Given the description of an element on the screen output the (x, y) to click on. 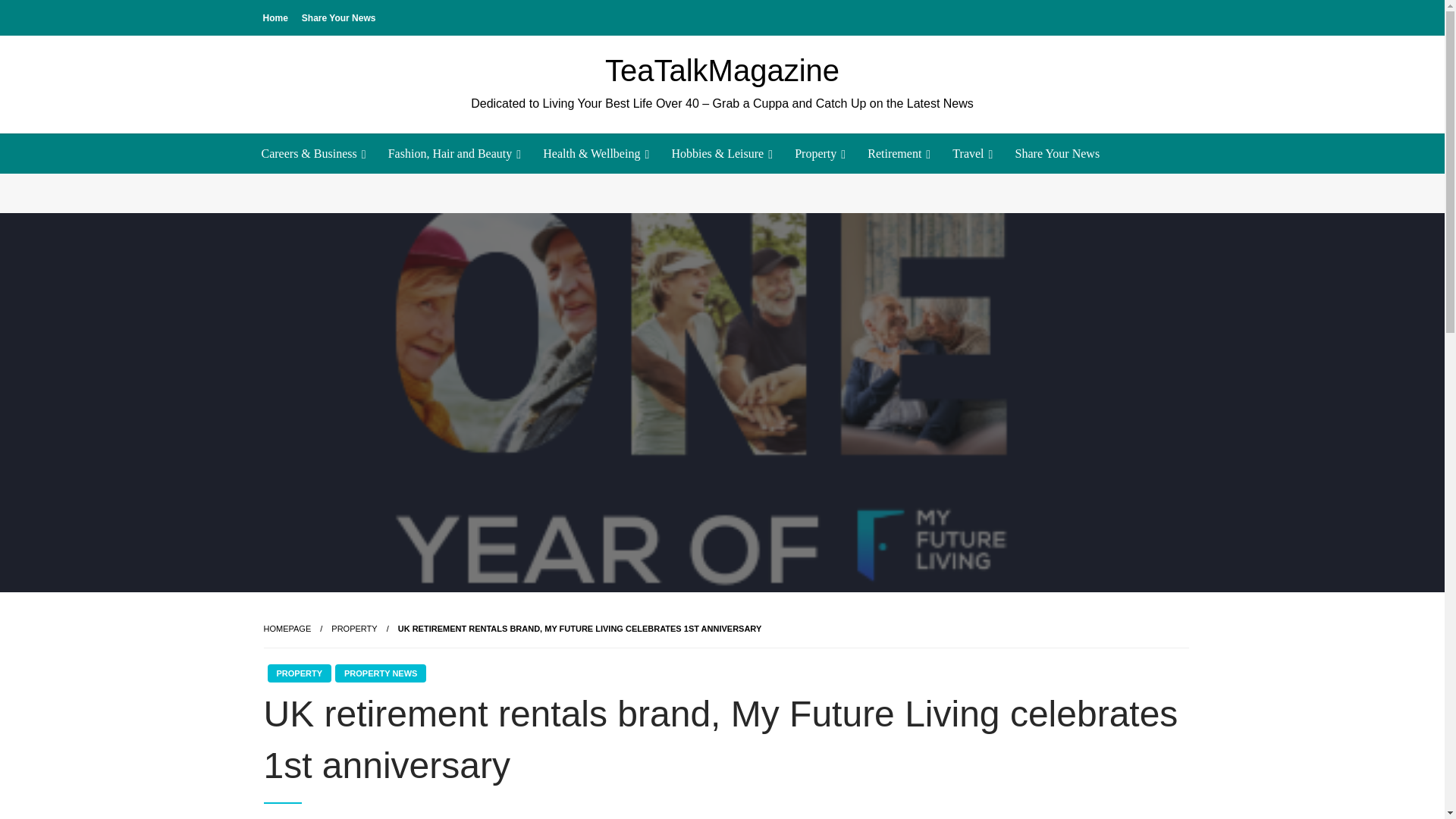
Property (354, 628)
Home (275, 17)
TeaTalkMagazine (722, 70)
Share Your News (338, 17)
Fashion, Hair and Beauty (453, 153)
Homepage (287, 628)
